Given the description of an element on the screen output the (x, y) to click on. 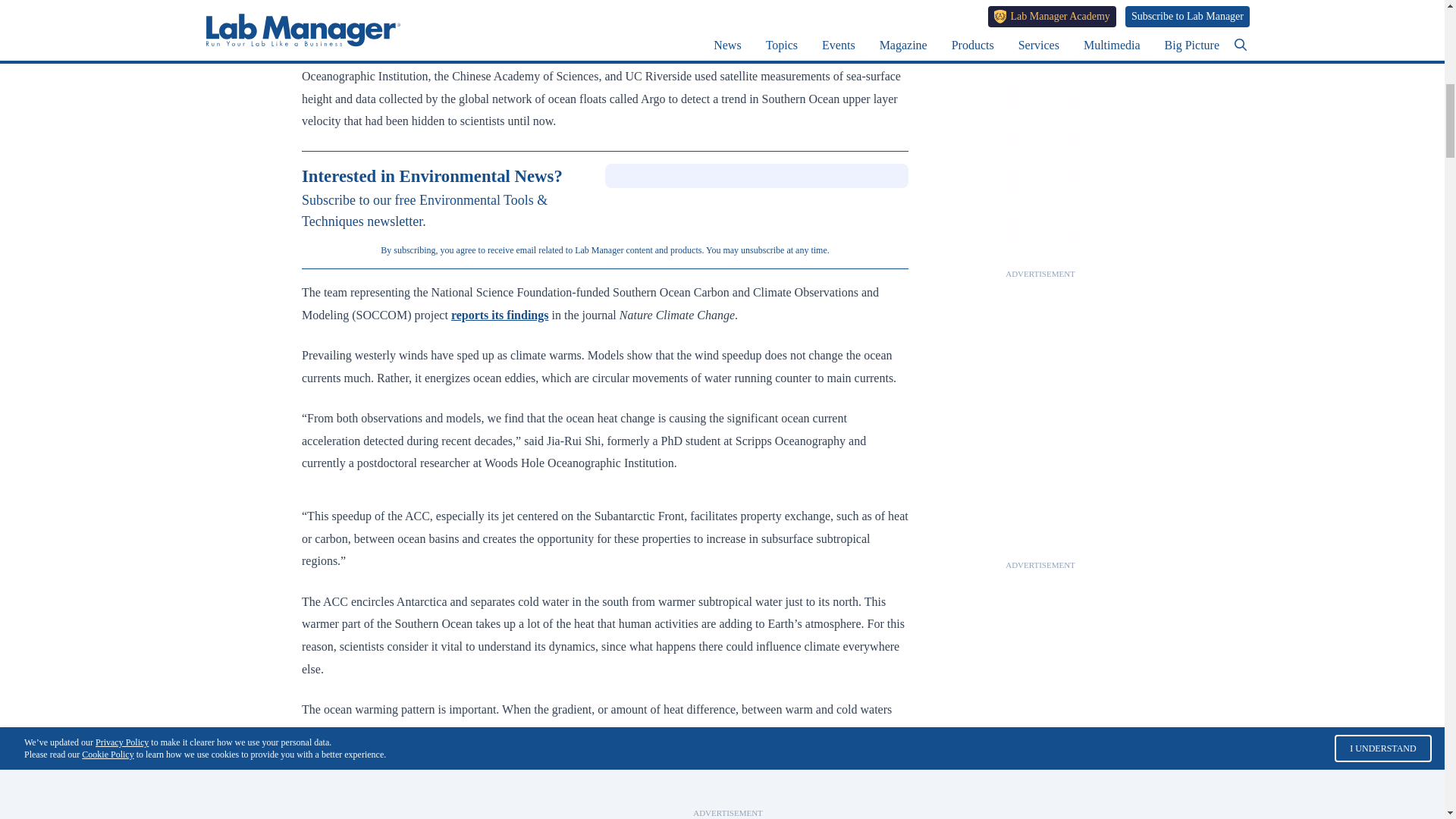
3rd party ad content (1040, 805)
3rd party ad content (1040, 463)
3rd party ad content (1040, 68)
